Given the description of an element on the screen output the (x, y) to click on. 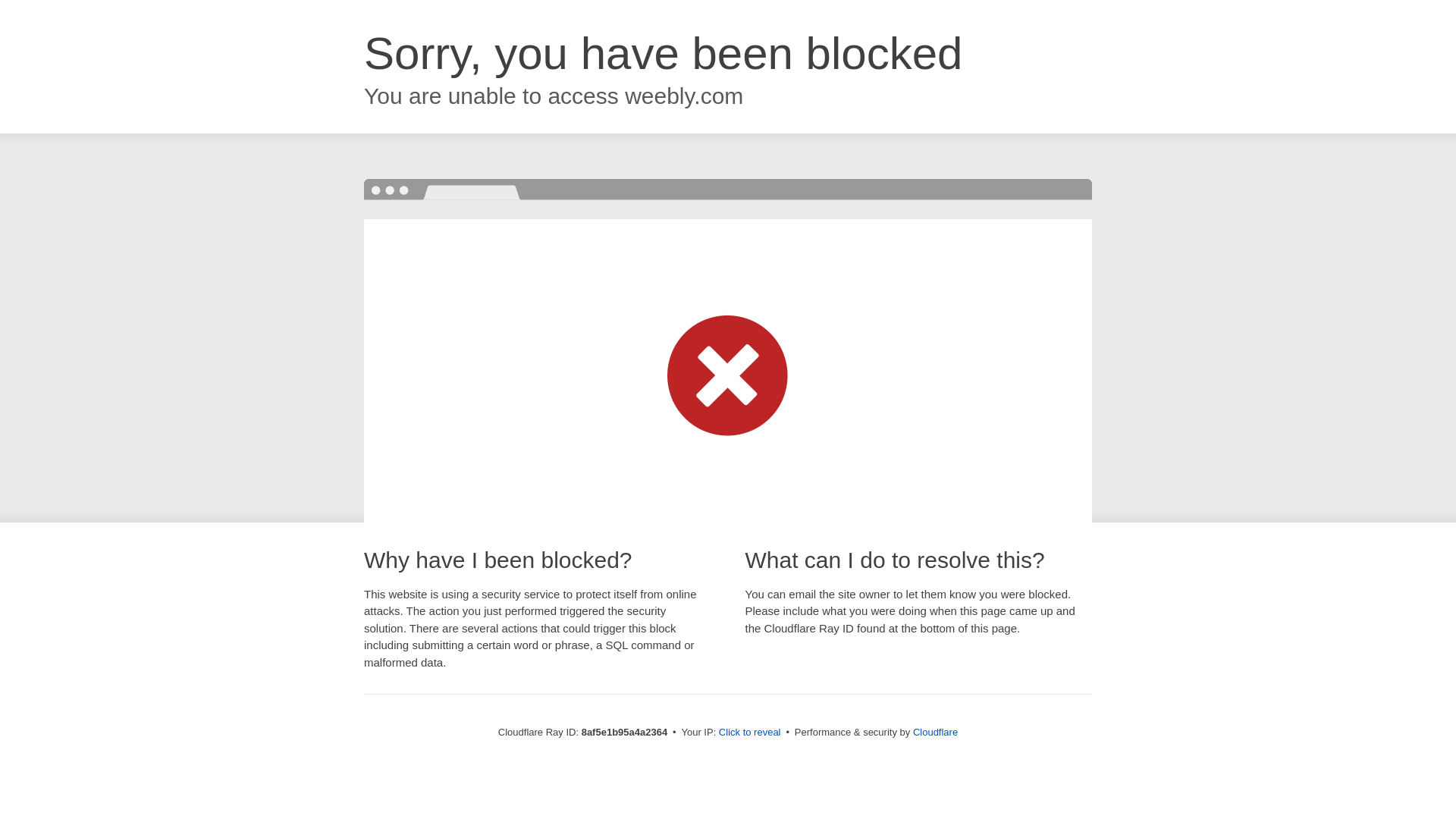
Click to reveal (749, 732)
Cloudflare (935, 731)
